Given the description of an element on the screen output the (x, y) to click on. 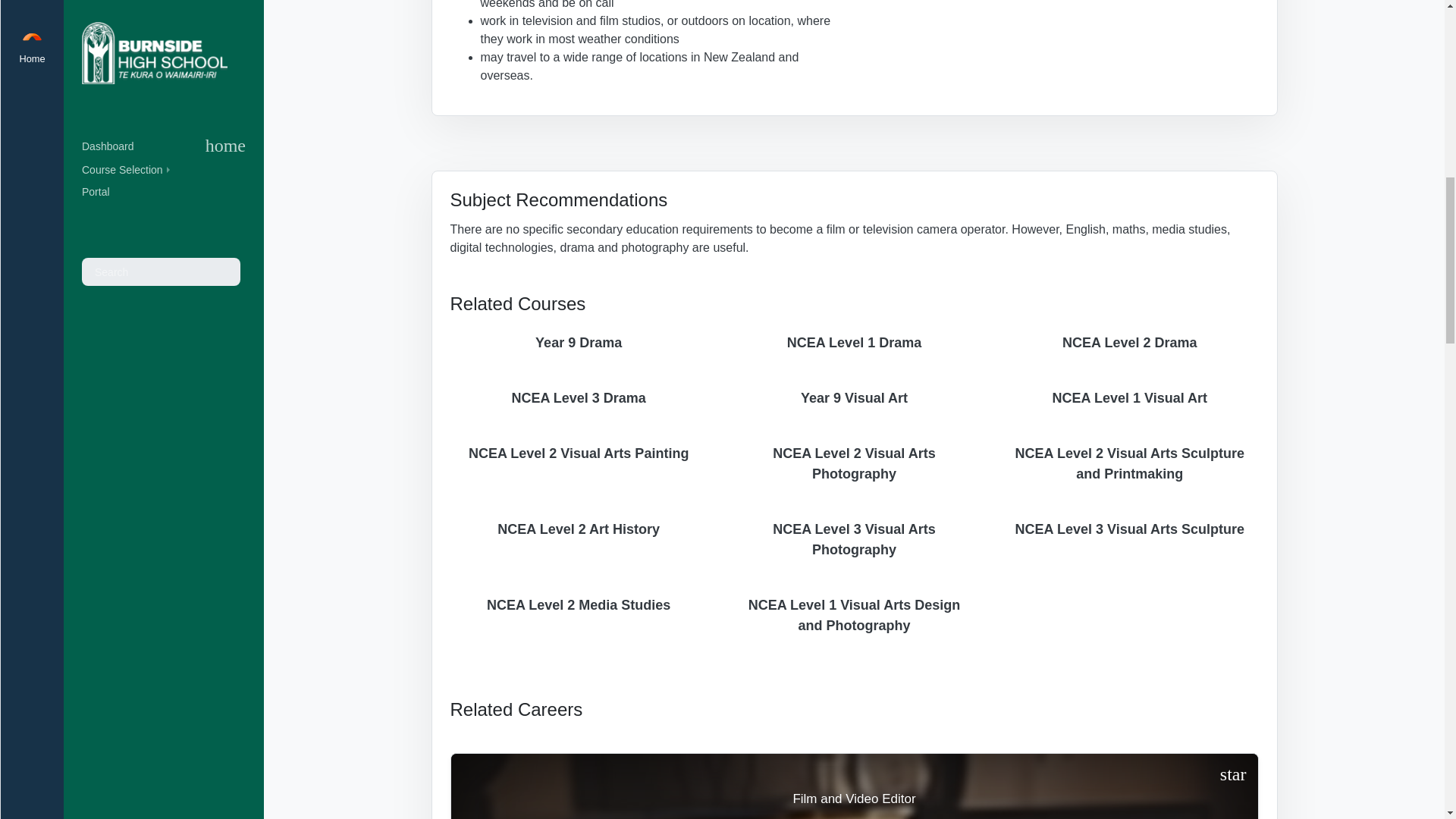
NCEA Level 2 Media Studies (578, 605)
NCEA Level 1 Visual Art (1129, 398)
Year 9 Visual Art (853, 398)
NCEA Level 2 Visual Arts Painting (578, 453)
NCEA Level 3 Visual Arts Photography (853, 539)
NCEA Level 2 Art History (578, 529)
Year 9 Drama (578, 342)
NCEA Level 3 Drama (578, 398)
NCEA Level 3 Visual Arts Sculpture (1129, 529)
NCEA Level 1 Visual Arts Design and Photography (853, 615)
